Given the description of an element on the screen output the (x, y) to click on. 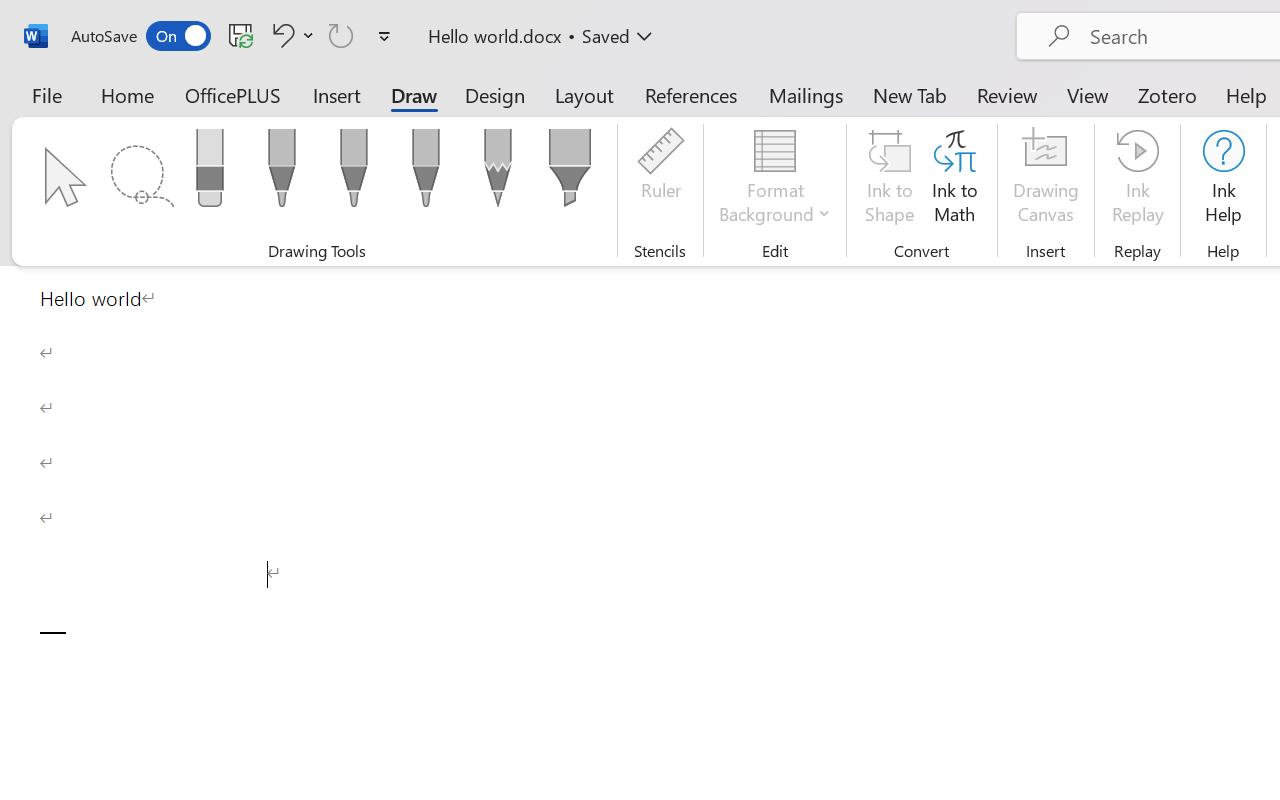
Format Background (774, 179)
Pencil: Gray, 1 mm (497, 173)
Review (1007, 94)
Home (127, 94)
Quick Access Toolbar (233, 36)
Pen: Black, 0.5 mm (281, 173)
Pen: Galaxy, 1 mm (426, 173)
Can't Repeat (341, 35)
